Given the description of an element on the screen output the (x, y) to click on. 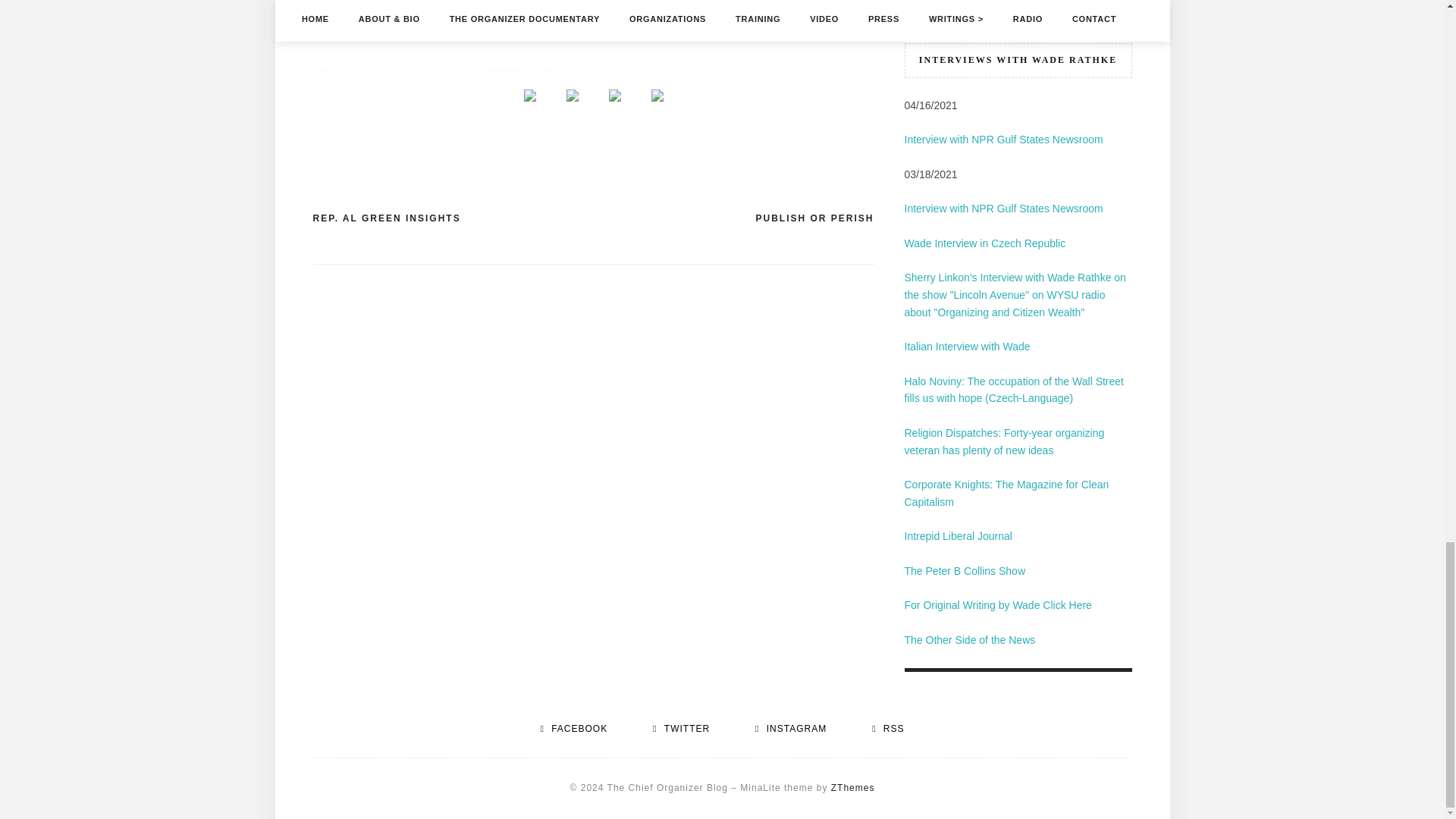
Share on Reddit (614, 95)
Share on Facebook (529, 107)
Share on Twitter (571, 107)
PUBLISH OR PERISH (814, 218)
REP. AL GREEN INSIGHTS (386, 218)
Share on LinkedIn (656, 95)
Share on LinkedIn (657, 107)
Share on Facebook (528, 95)
Share on Twitter (572, 95)
Share on Reddit (613, 107)
